Given the description of an element on the screen output the (x, y) to click on. 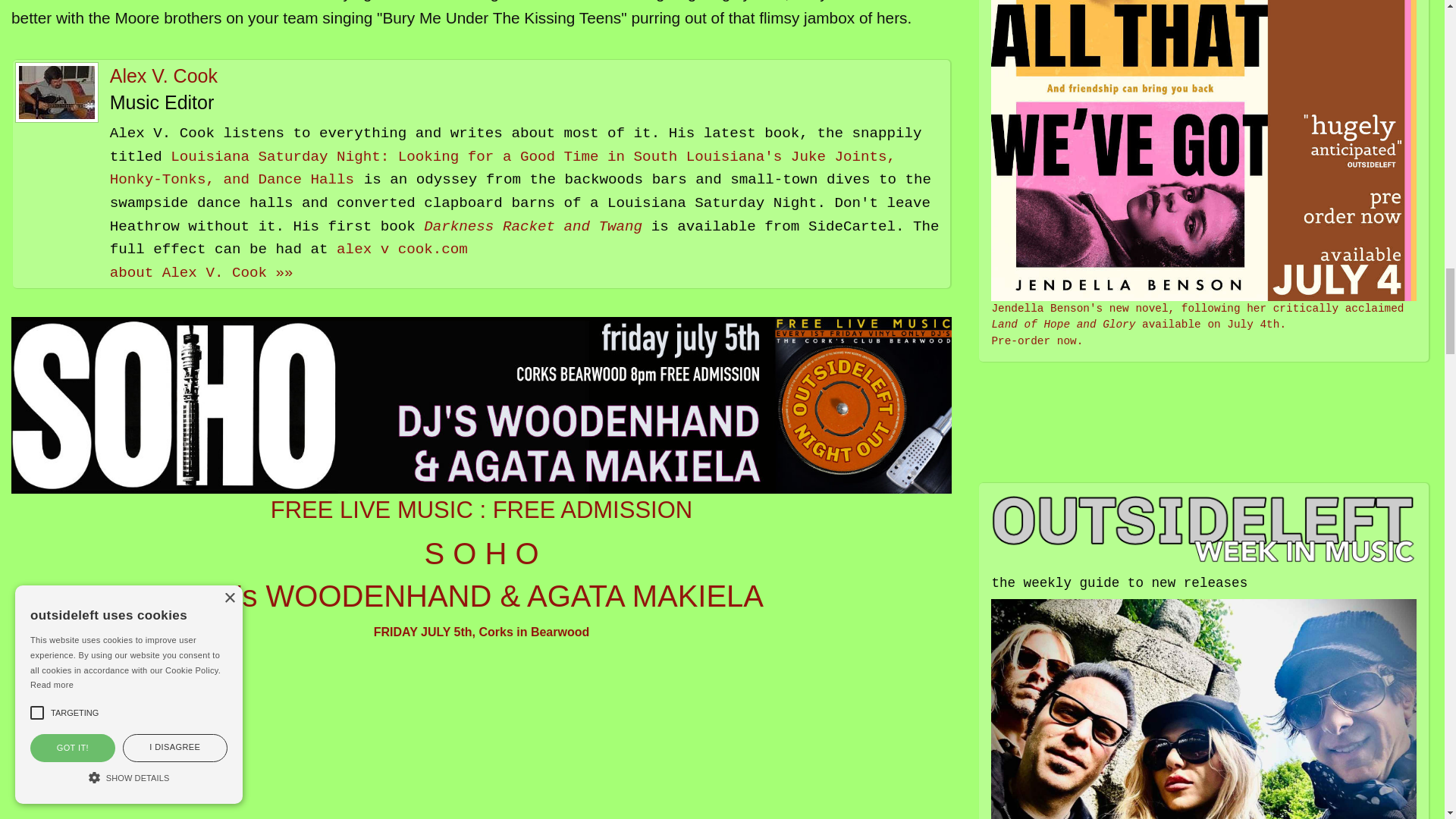
Alex V. Cook (163, 75)
Darkness Racket and Twang (532, 226)
alex v cook.com (401, 248)
